Given the description of an element on the screen output the (x, y) to click on. 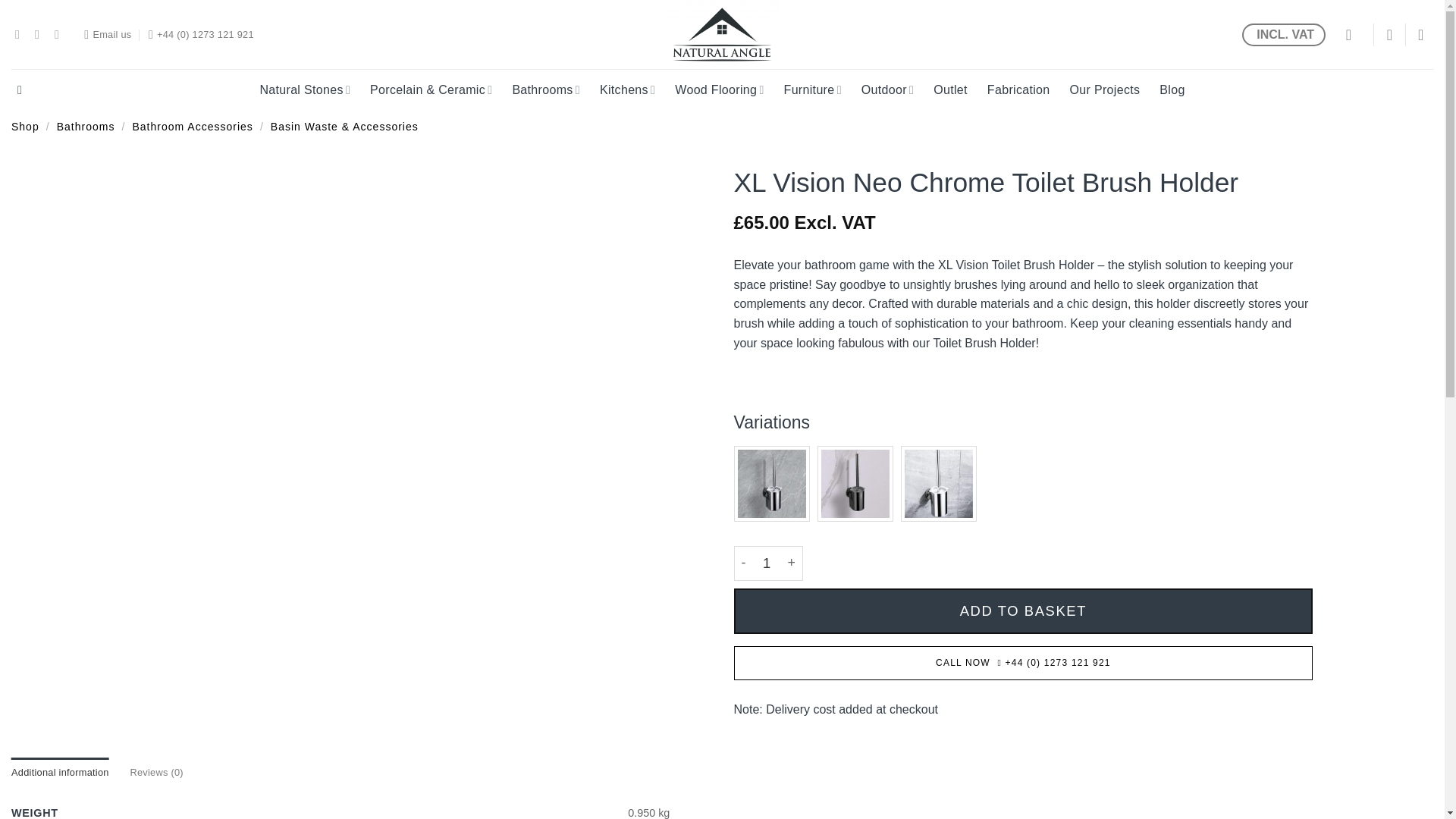
XL Vision Neo Gunmetal Toilet Brush Holder (771, 483)
Email us (107, 34)
XL Vision Neo Matt Black Toilet Brush Holder (854, 483)
INCL. VAT (1282, 33)
Natural Stones (304, 89)
XL Vision Neo Stainless Steel Toilet Brush Holder (938, 483)
Natural Angle - Where Earth becomes Art (721, 34)
With VAT removed (804, 222)
